Given the description of an element on the screen output the (x, y) to click on. 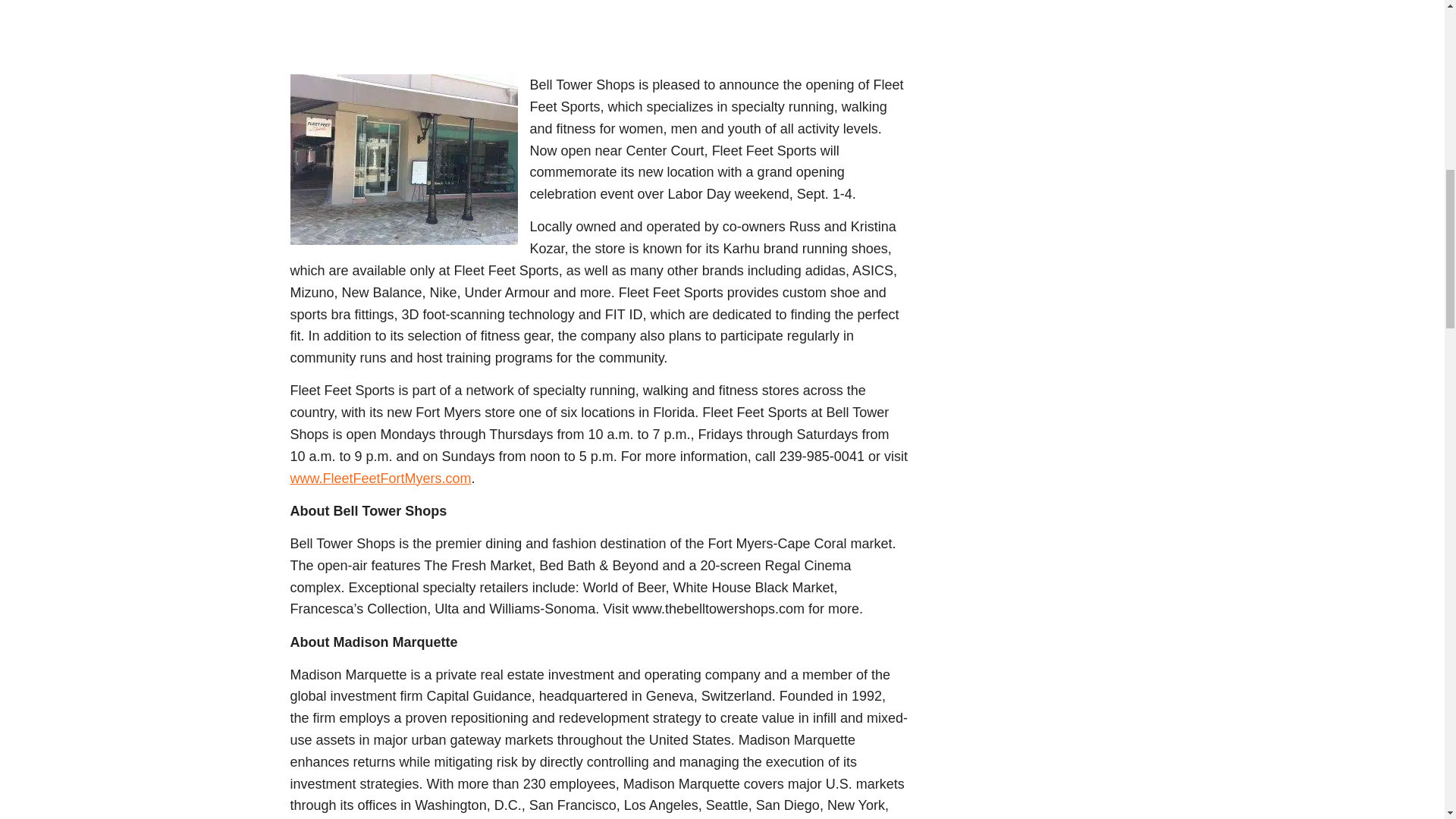
www.FleetFeetFortMyers.com (379, 478)
